Given the description of an element on the screen output the (x, y) to click on. 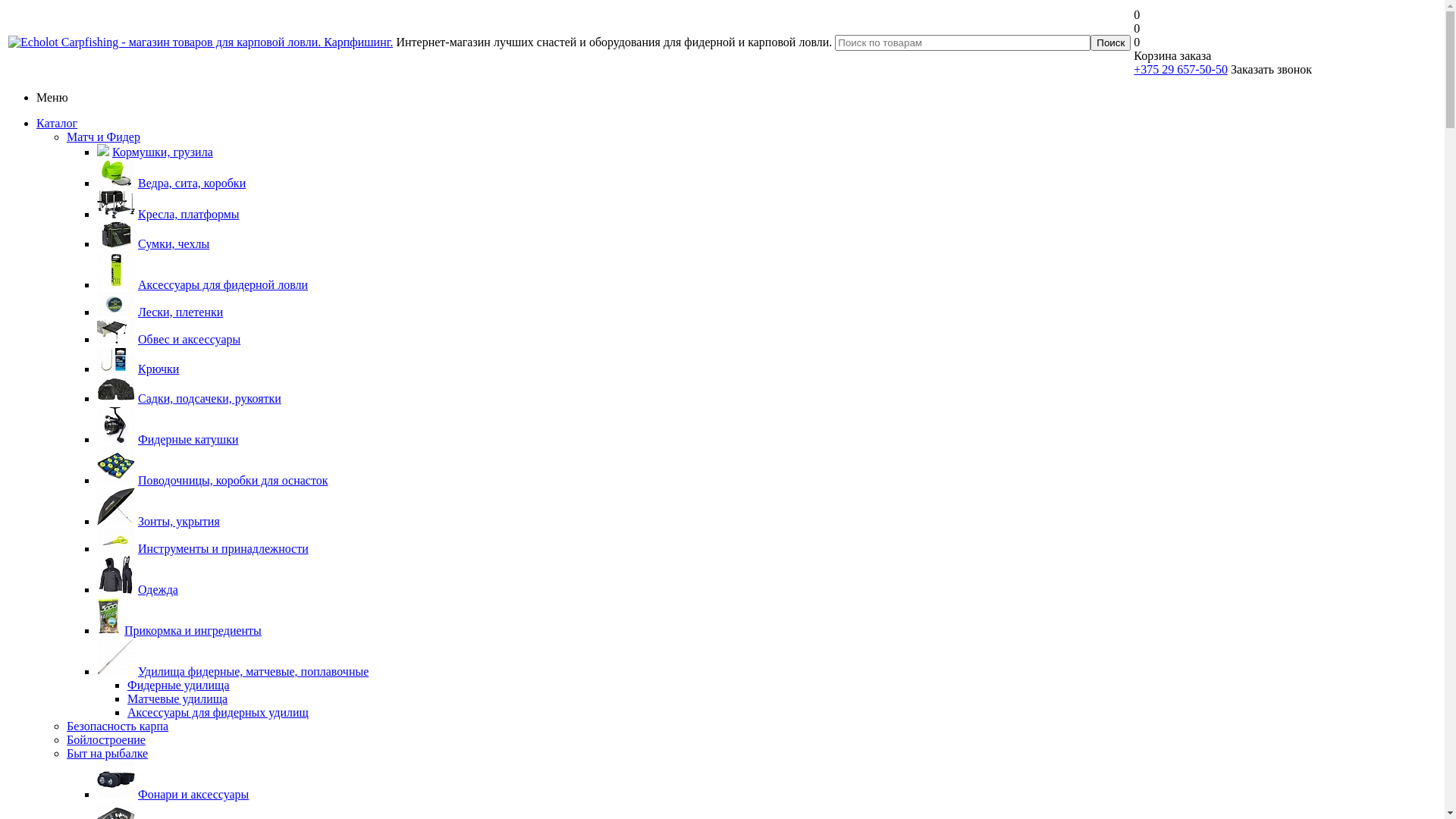
+375 29 657-50-50 Element type: text (1180, 68)
